Given the description of an element on the screen output the (x, y) to click on. 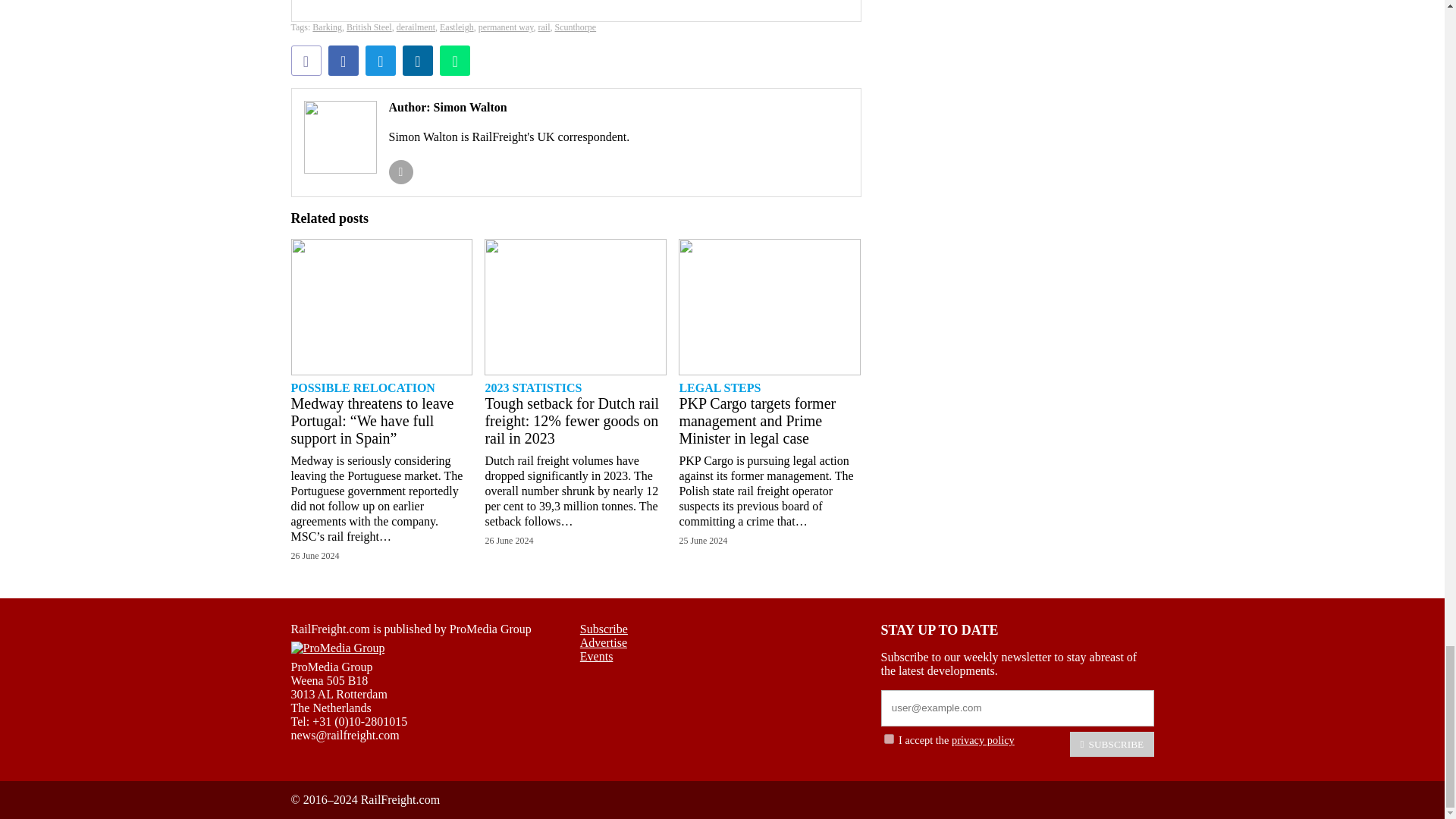
rail (544, 27)
British Steel (368, 27)
yes (888, 738)
Facebook (343, 60)
Facebook (343, 60)
E-mail (306, 60)
LinkedIn (417, 60)
permanent way (506, 27)
Eastleigh (456, 27)
E-mail (306, 60)
Twitter (380, 60)
derailment (415, 27)
WhatsApp (454, 60)
LinkedIn (417, 60)
Twitter (380, 60)
